Given the description of an element on the screen output the (x, y) to click on. 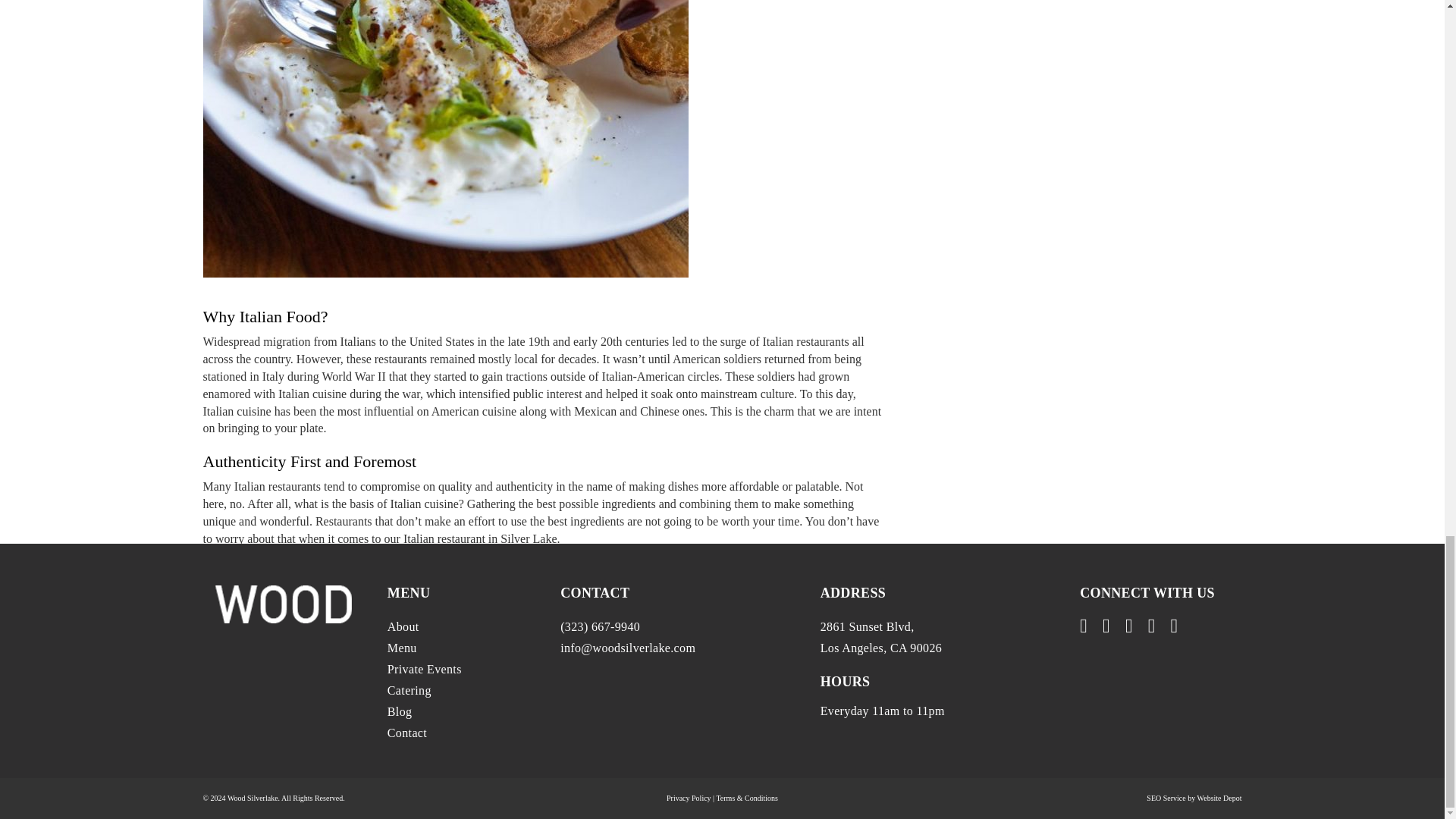
Blog (280, 776)
Italian Restaurant in Silver Lake (640, 776)
Wood Silverlake (315, 761)
food delivery in Silver Lake (497, 776)
Wood Silverlake (315, 761)
best pizza in Silver Lake (373, 776)
